Given the description of an element on the screen output the (x, y) to click on. 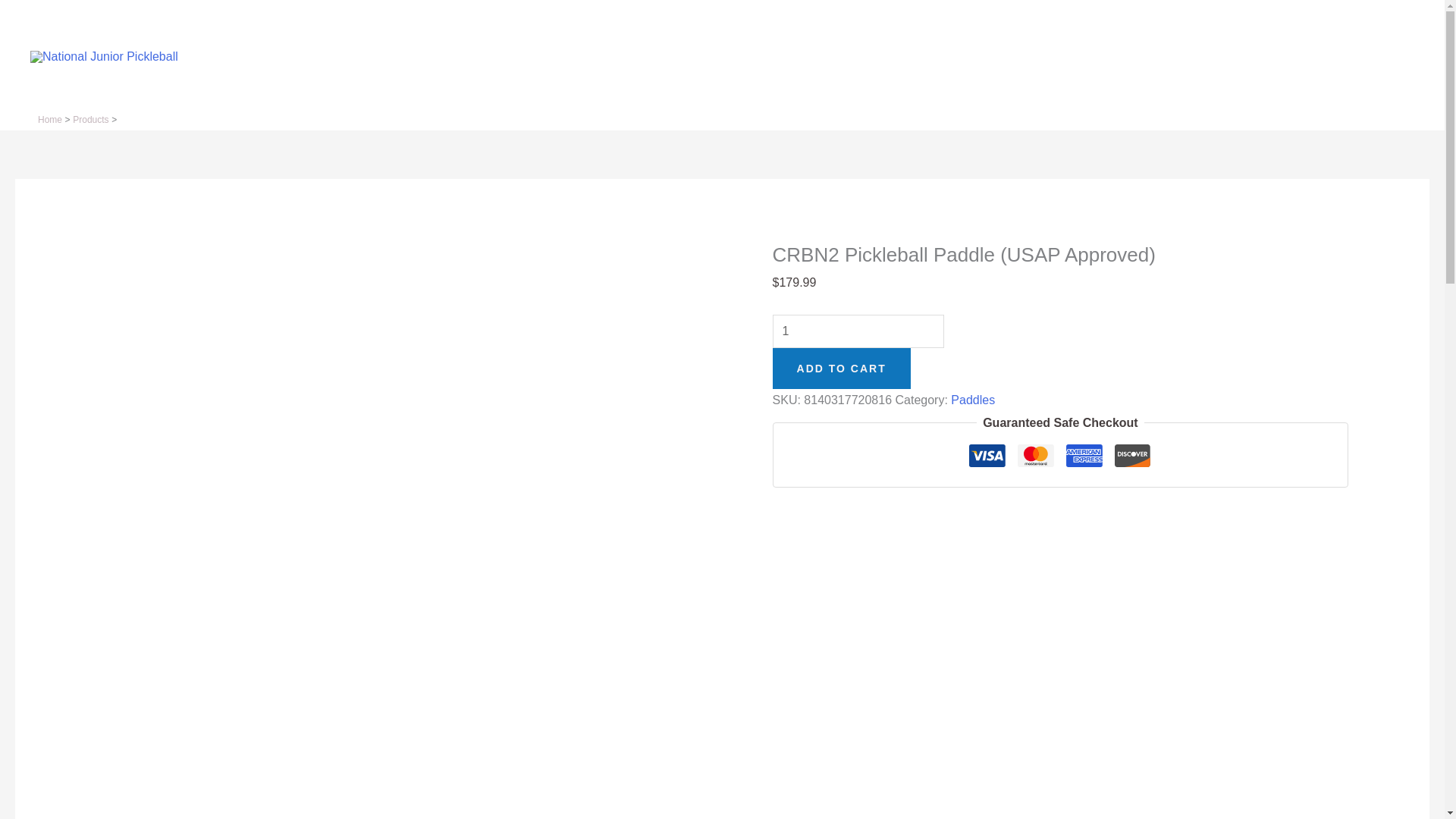
ADD TO CART (842, 368)
Paddles (972, 399)
Products (89, 119)
Home (49, 119)
1 (858, 331)
